Given the description of an element on the screen output the (x, y) to click on. 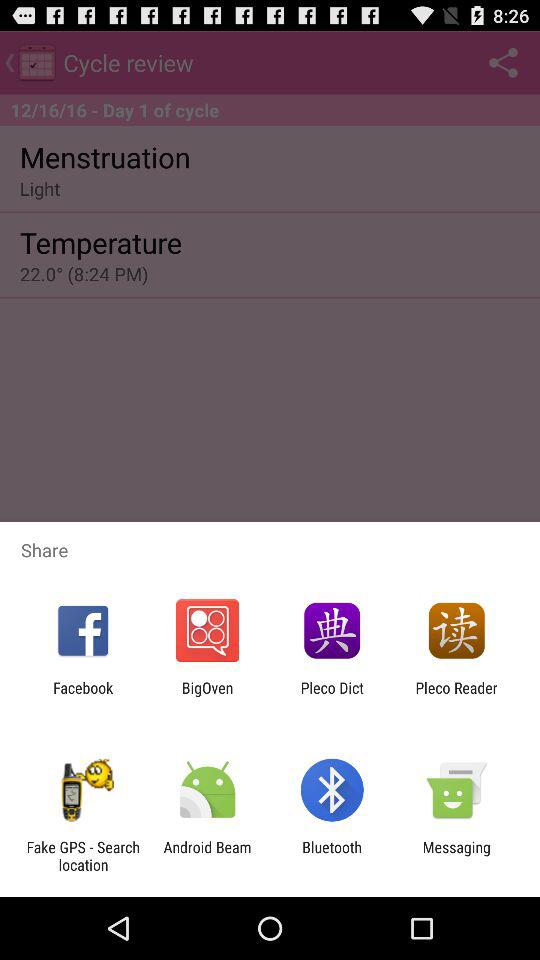
flip until facebook (83, 696)
